Given the description of an element on the screen output the (x, y) to click on. 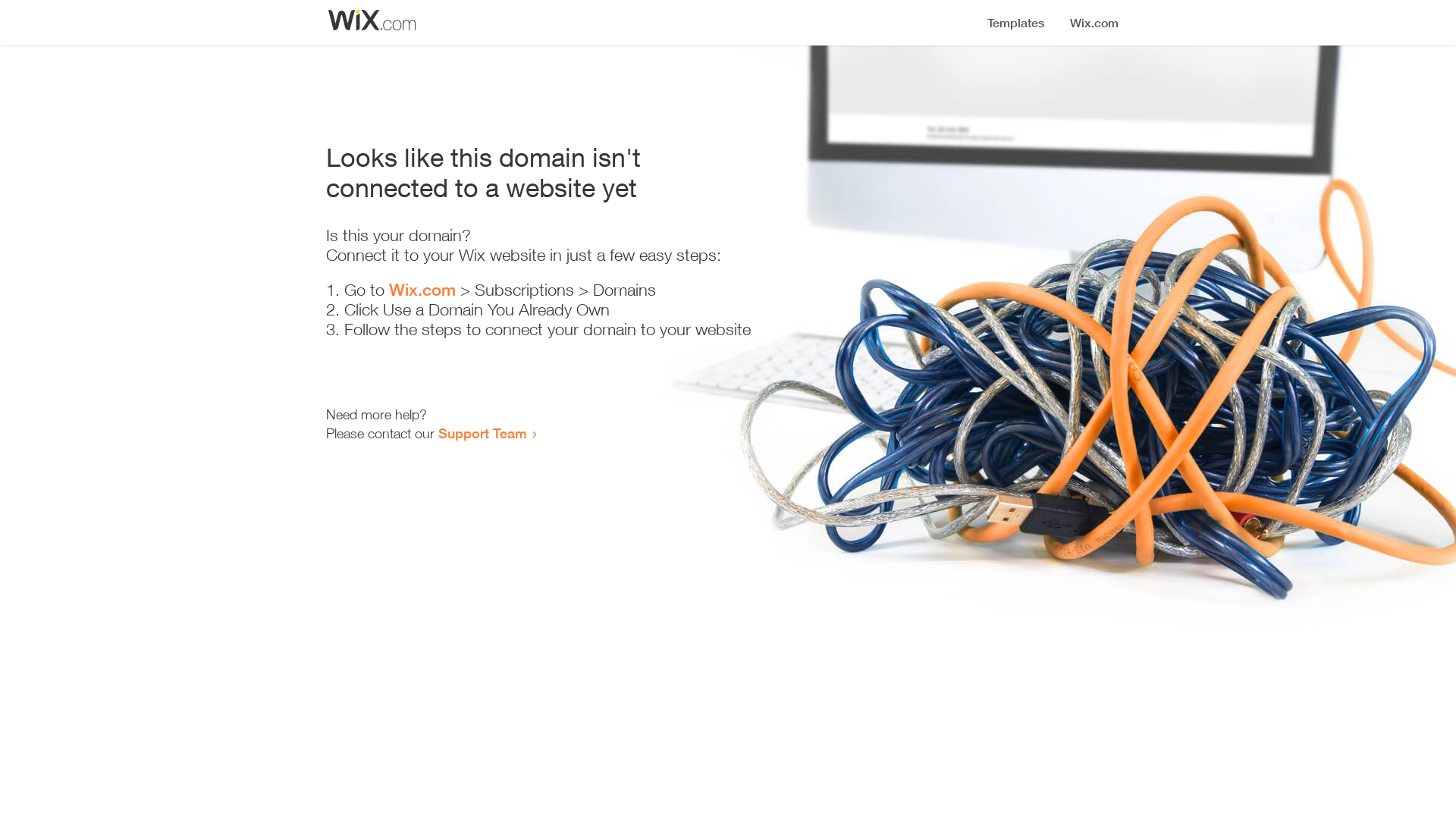
Wix.com Element type: text (422, 289)
Support Team Element type: text (482, 432)
